Given the description of an element on the screen output the (x, y) to click on. 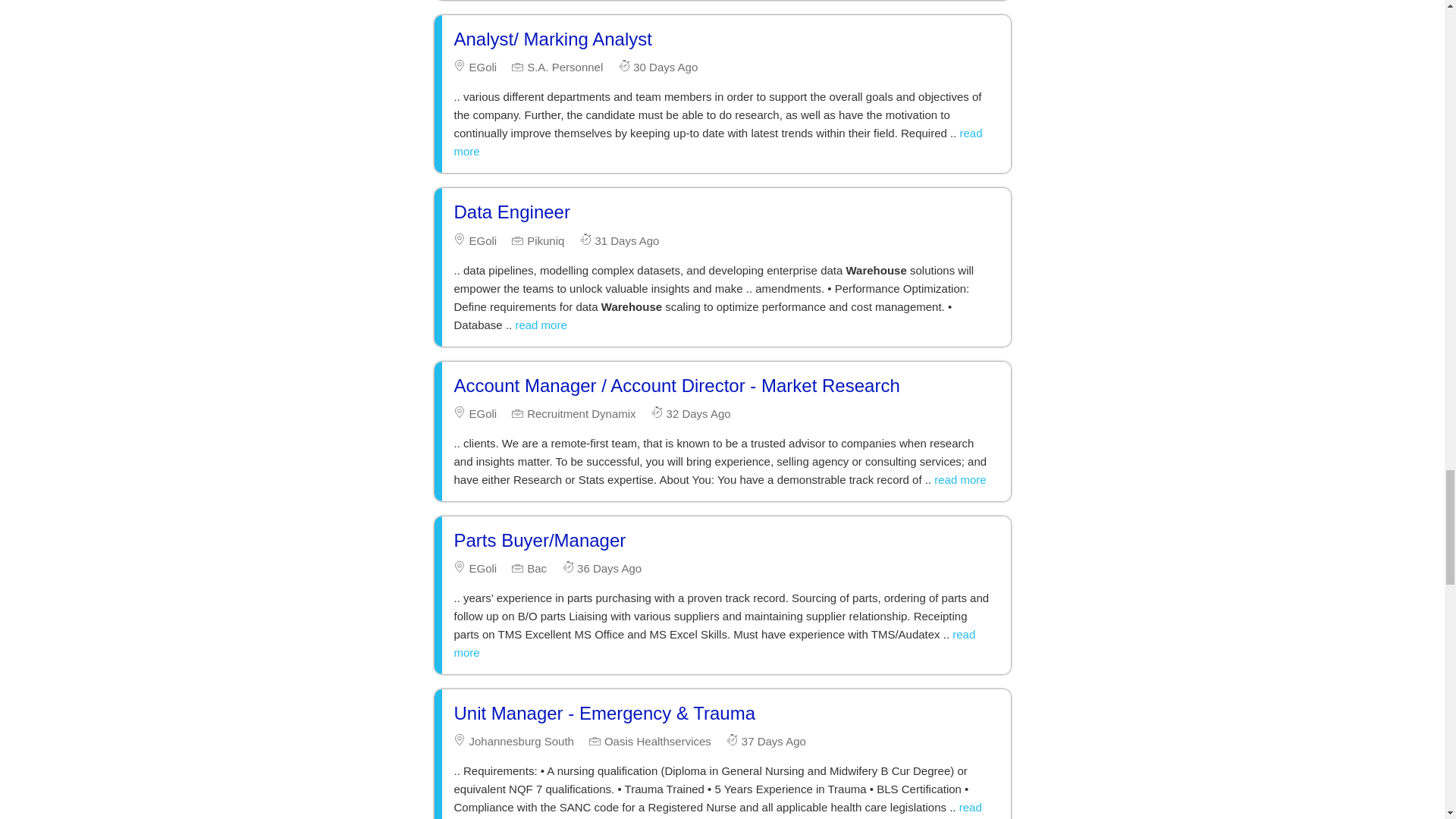
Data Engineer (510, 211)
read more (540, 324)
read more (716, 142)
